Given the description of an element on the screen output the (x, y) to click on. 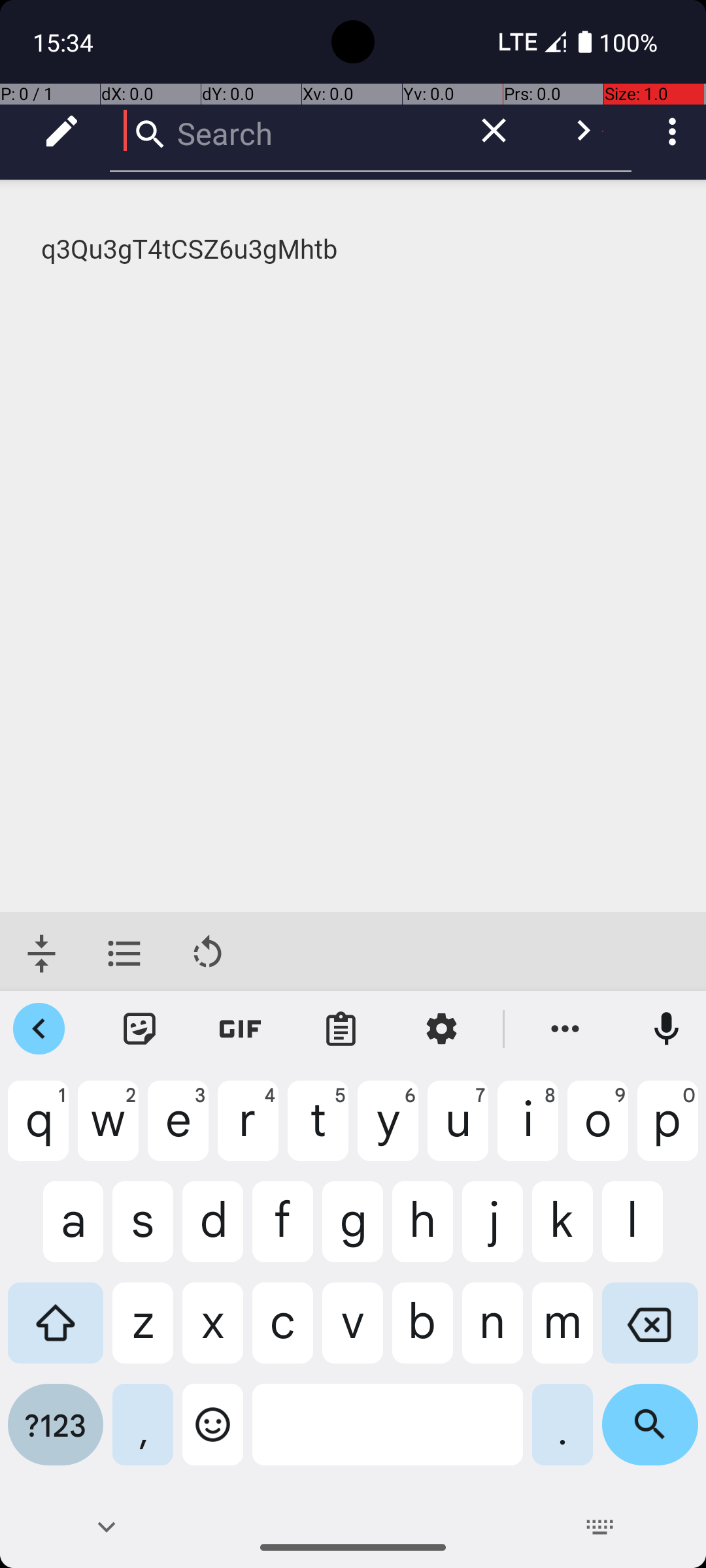
   Search Element type: android.widget.AutoCompleteTextView (280, 130)
Submit query Element type: android.widget.ImageView (583, 130)
q3Qu3gT4tCSZ6u3gMhtb Element type: android.widget.TextView (354, 249)
